Given the description of an element on the screen output the (x, y) to click on. 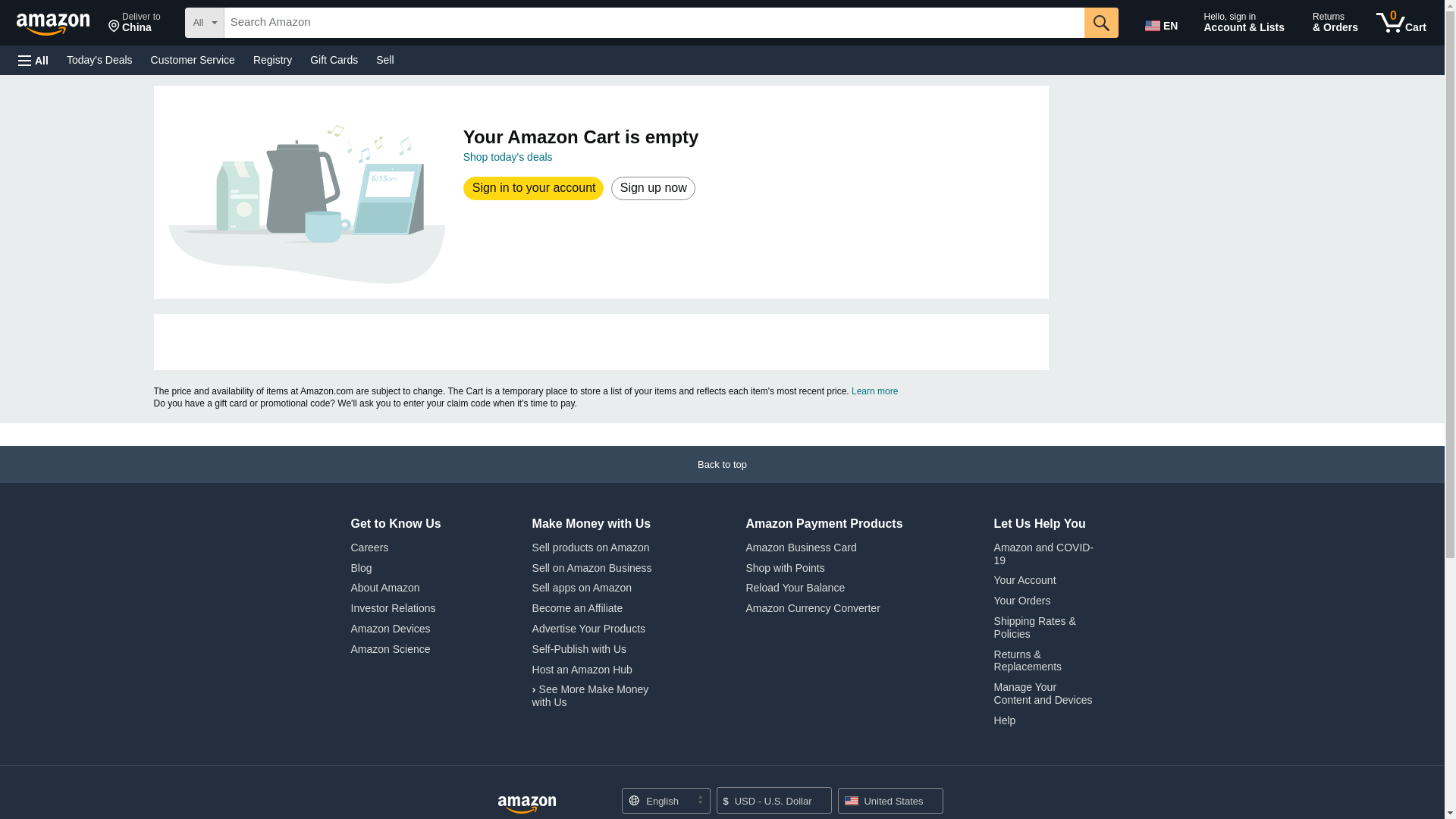
Sign up now (652, 188)
About Amazon (384, 587)
Amazon Devices (389, 628)
Amazon Science (389, 648)
Go (1101, 22)
All (33, 60)
Sell (384, 59)
Blog (360, 567)
EN (1163, 22)
Advertise Your Products (588, 628)
